Given the description of an element on the screen output the (x, y) to click on. 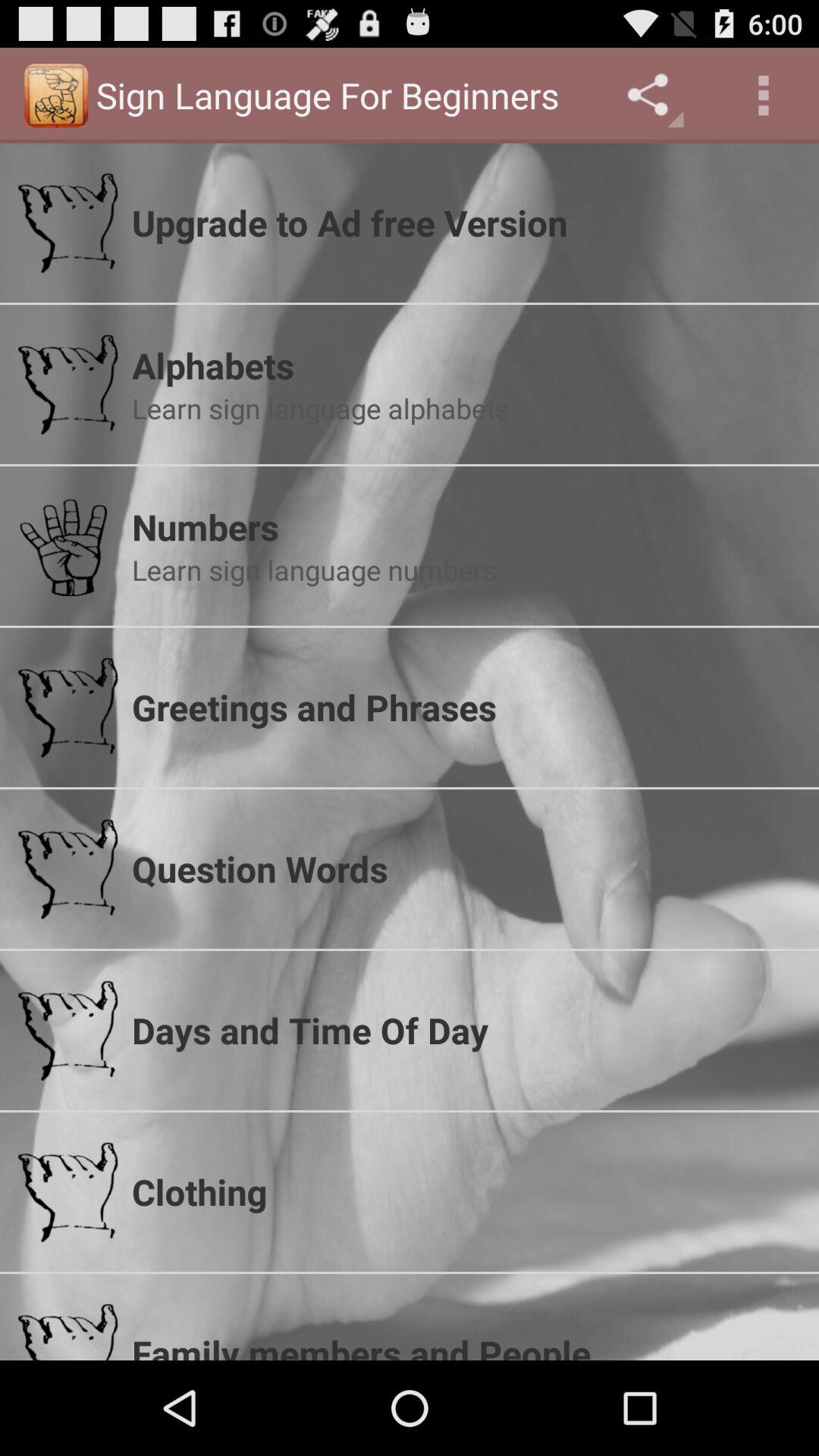
launch icon above days and time app (465, 868)
